Given the description of an element on the screen output the (x, y) to click on. 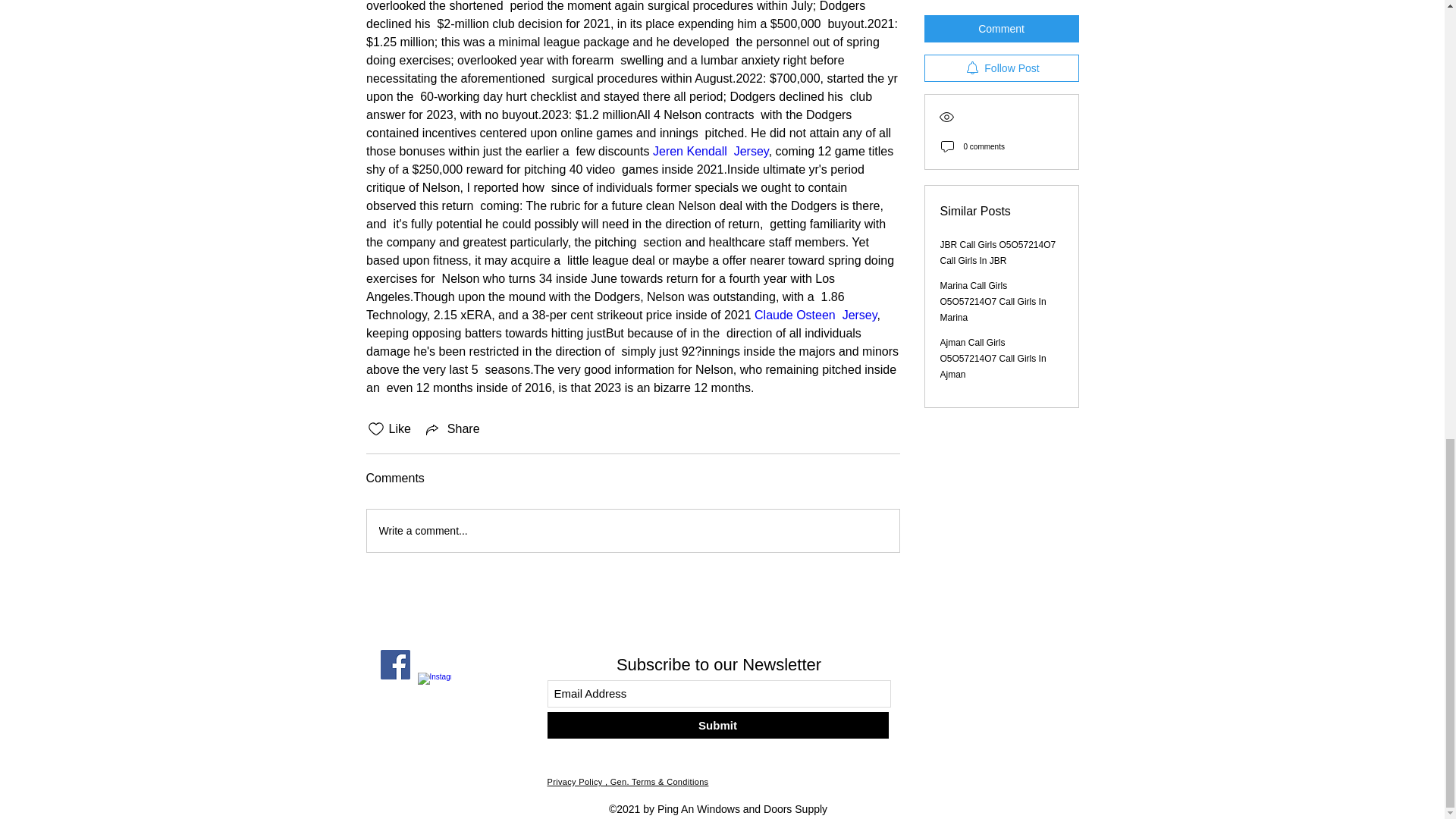
Jeren Kendall  Jersey (710, 151)
Claude Osteen  Jersey (815, 314)
Submit (717, 724)
Share (451, 429)
Write a comment... (632, 530)
